Given the description of an element on the screen output the (x, y) to click on. 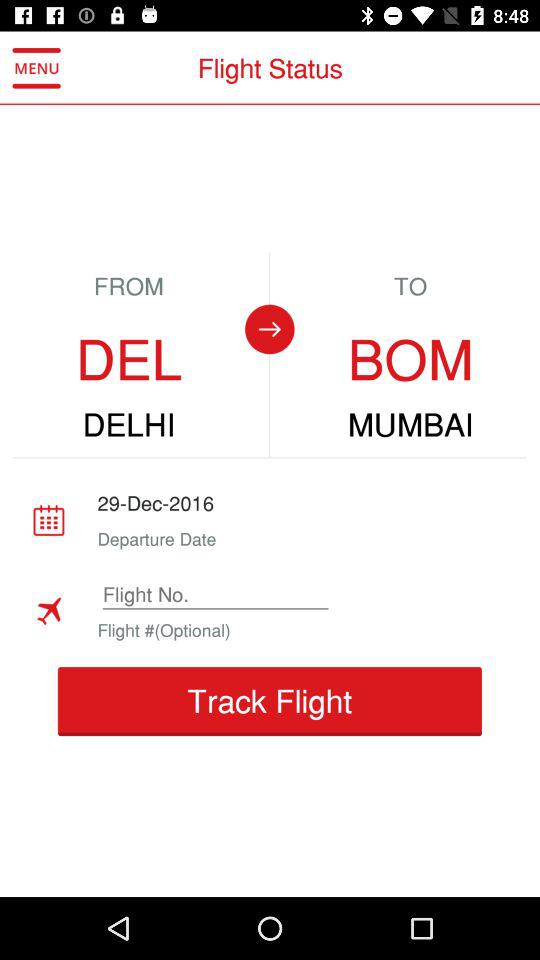
choose icon below to icon (410, 359)
